Given the description of an element on the screen output the (x, y) to click on. 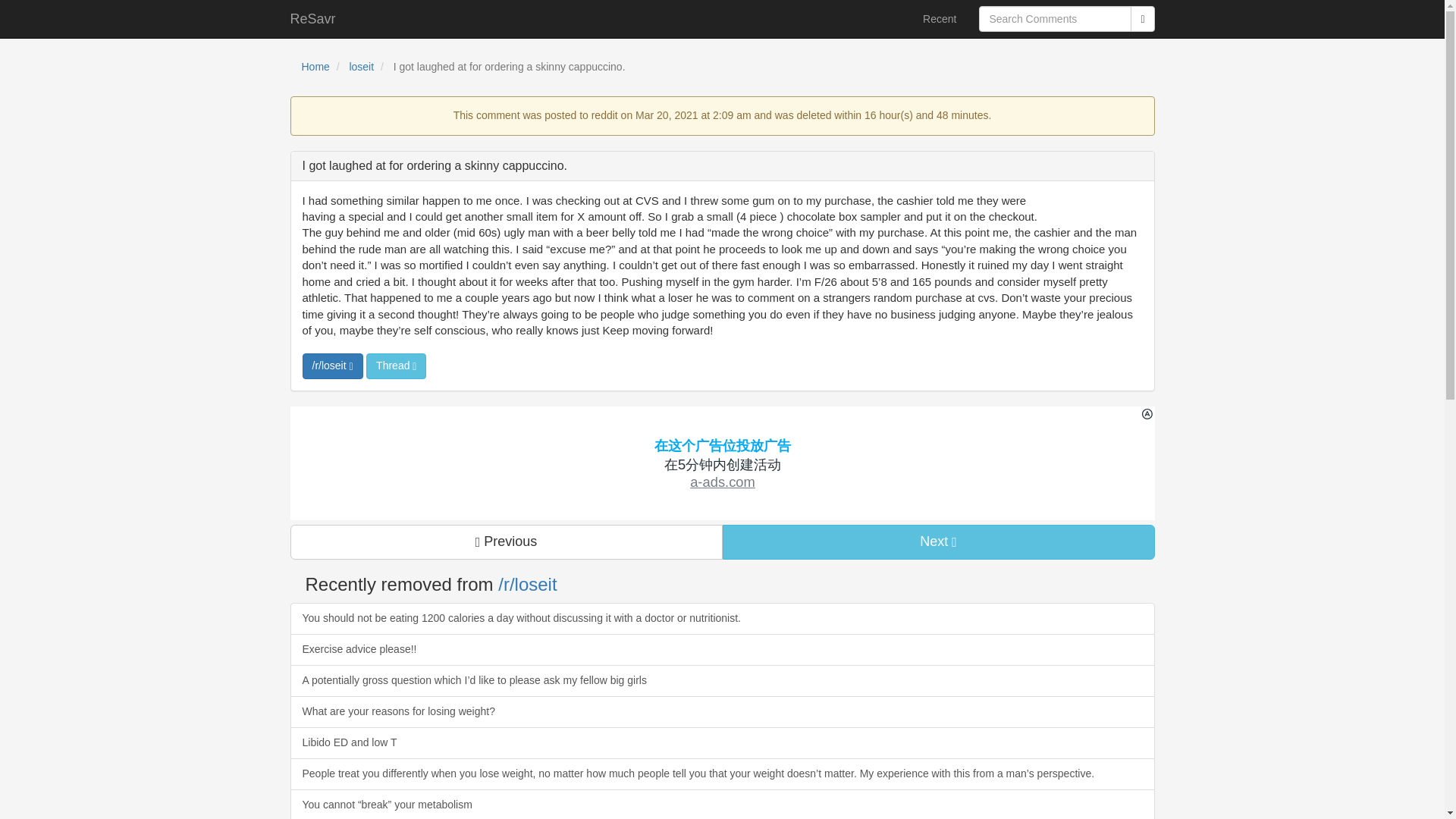
Thread (396, 365)
Recent (939, 18)
Libido ED and low T (721, 743)
What are your reasons for losing weight? (721, 712)
Next (938, 541)
loseit (361, 66)
Home (315, 66)
ReSavr (313, 18)
Exercise advice please!! (721, 649)
Previous (505, 541)
